Given the description of an element on the screen output the (x, y) to click on. 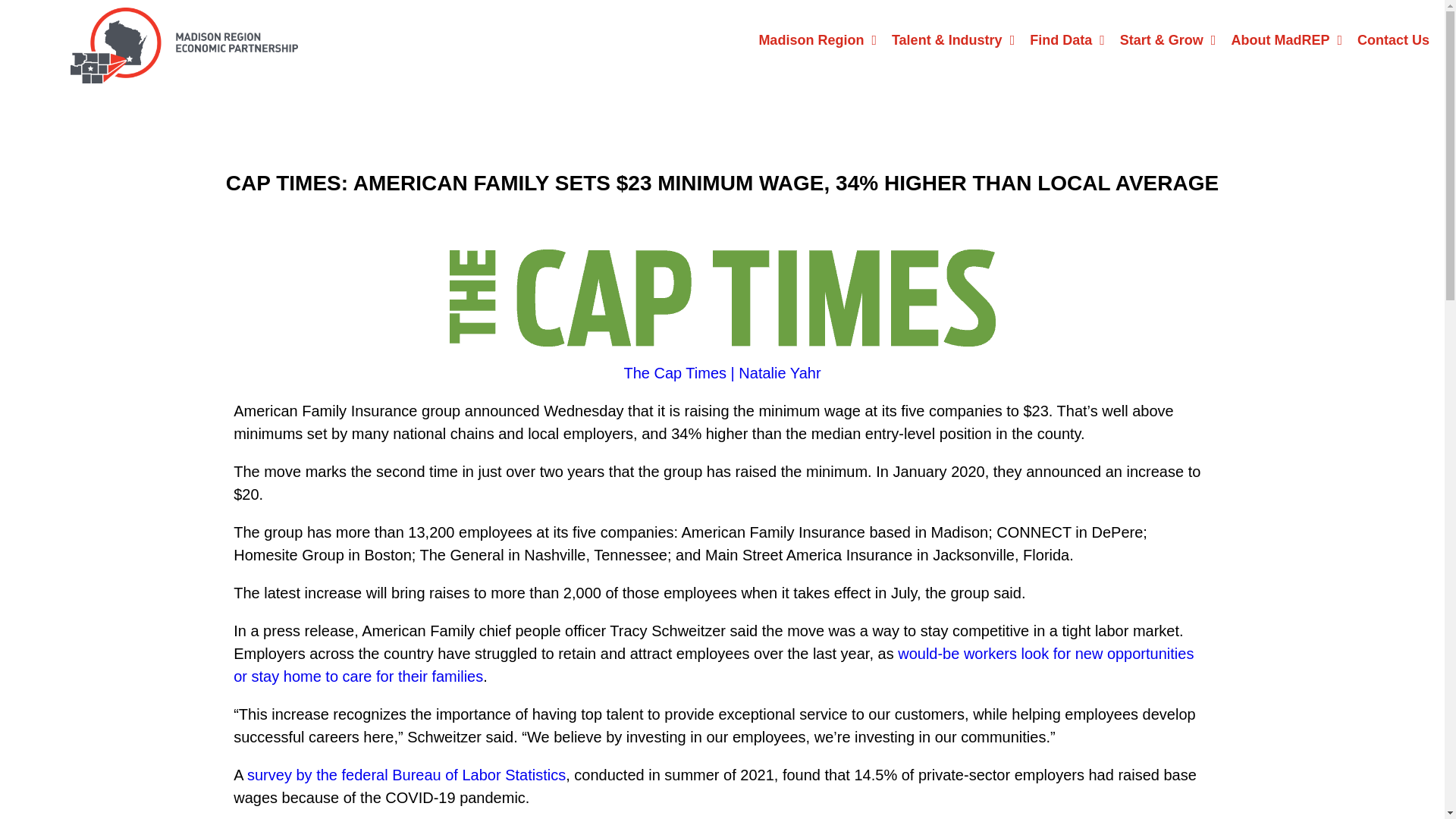
Find Data (1067, 39)
Madison Region (817, 39)
